Given the description of an element on the screen output the (x, y) to click on. 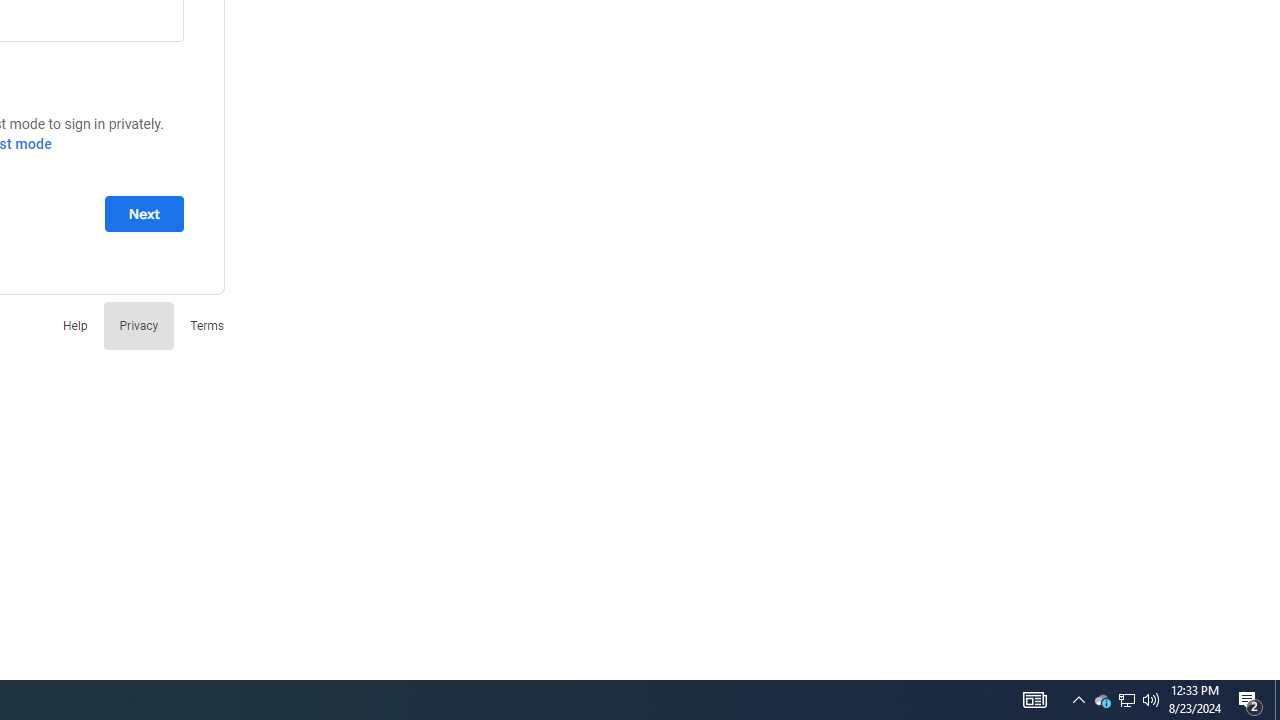
Next (143, 213)
